Given the description of an element on the screen output the (x, y) to click on. 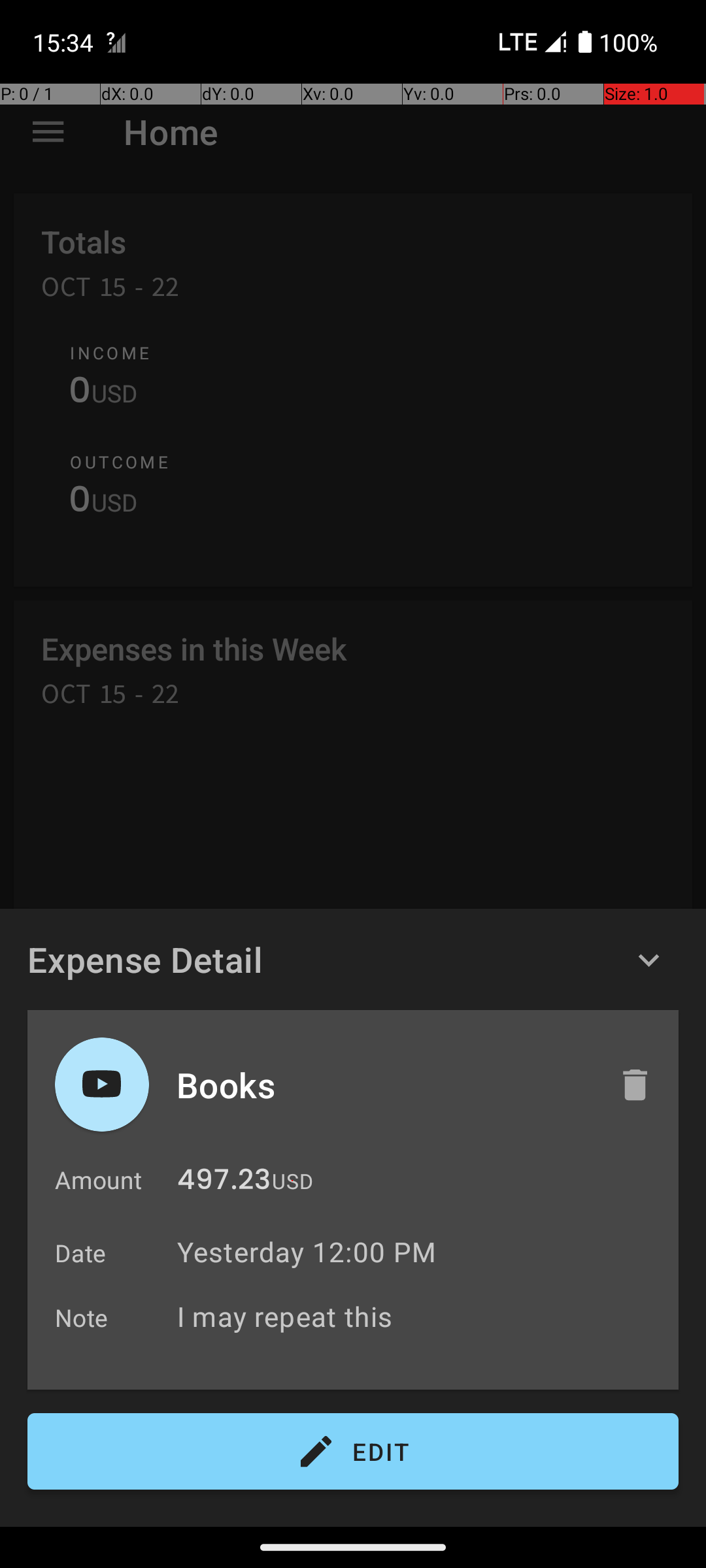
Books Element type: android.widget.TextView (383, 1084)
497.23 Element type: android.widget.TextView (223, 1182)
Yesterday 12:00 PM Element type: android.widget.TextView (306, 1251)
